Given the description of an element on the screen output the (x, y) to click on. 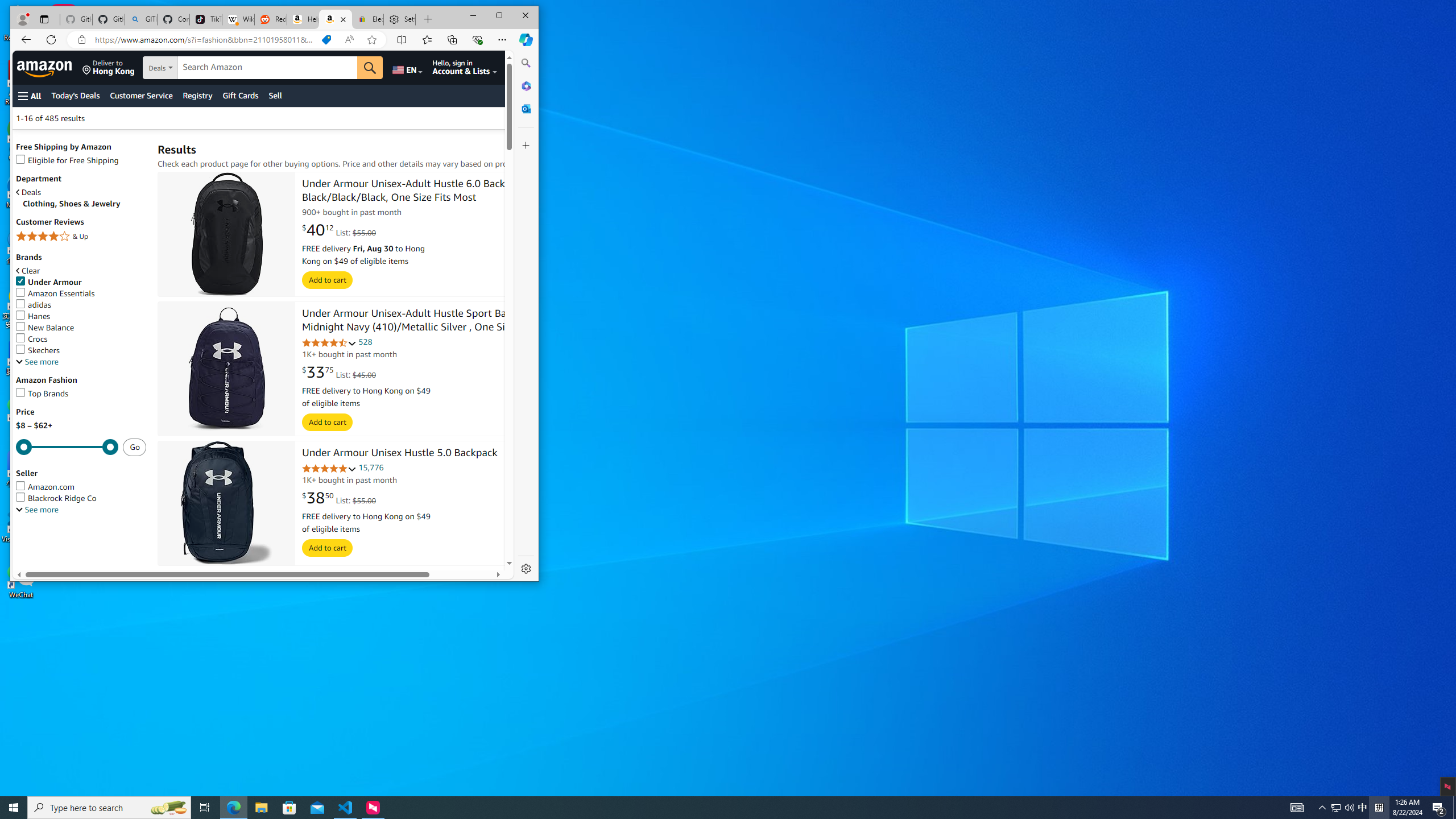
Blackrock Ridge Co (56, 497)
Top Brands (42, 393)
adidas (80, 304)
528 (365, 342)
15,776 (371, 467)
Returns & Orders (524, 67)
Skechers (80, 350)
$38.50 List: $55.00 (339, 498)
Today's Deals (75, 95)
Under Armour (48, 281)
